Given the description of an element on the screen output the (x, y) to click on. 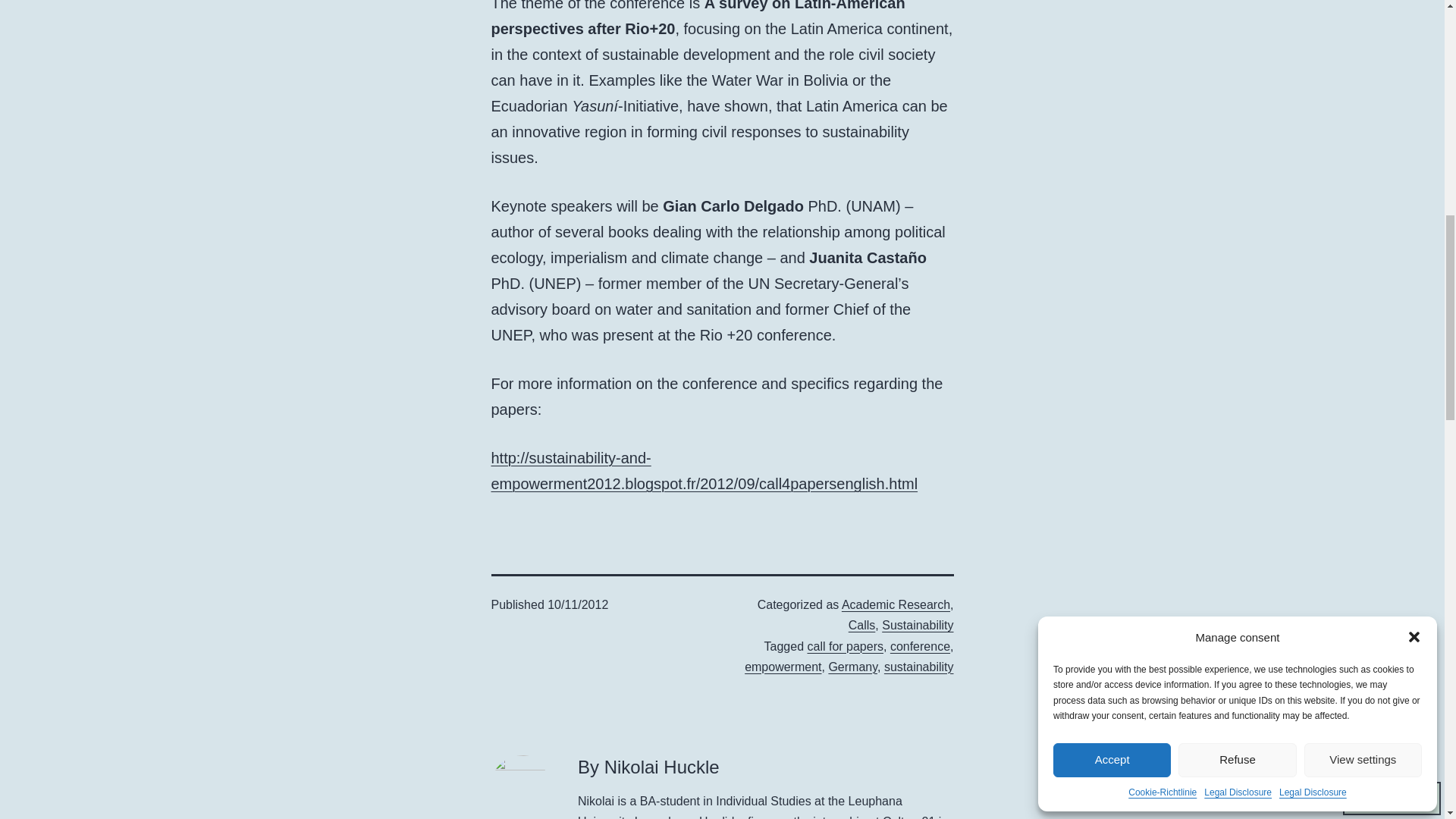
call for papers (844, 645)
sustainability (918, 666)
conference (919, 645)
Academic Research (895, 604)
Sustainability (917, 625)
Calls (862, 625)
Germany (852, 666)
empowerment (782, 666)
